Given the description of an element on the screen output the (x, y) to click on. 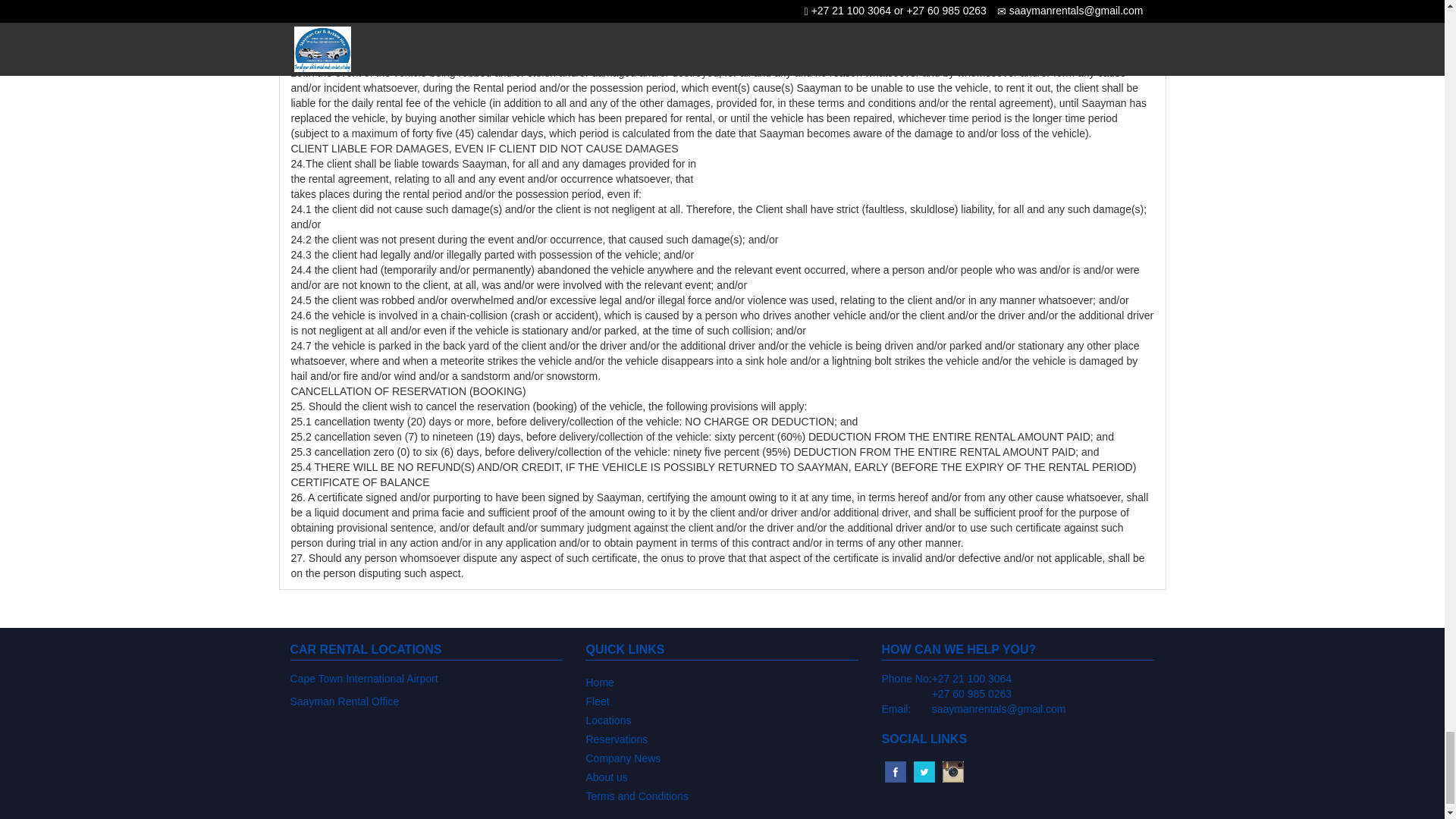
Fleet (722, 700)
Cape Town International Airport (363, 678)
Terms and Conditions (722, 794)
Locations (722, 719)
Saayman Rental Office (343, 701)
About us (722, 775)
Company News (722, 756)
Home (722, 681)
Reservations (722, 737)
